Given the description of an element on the screen output the (x, y) to click on. 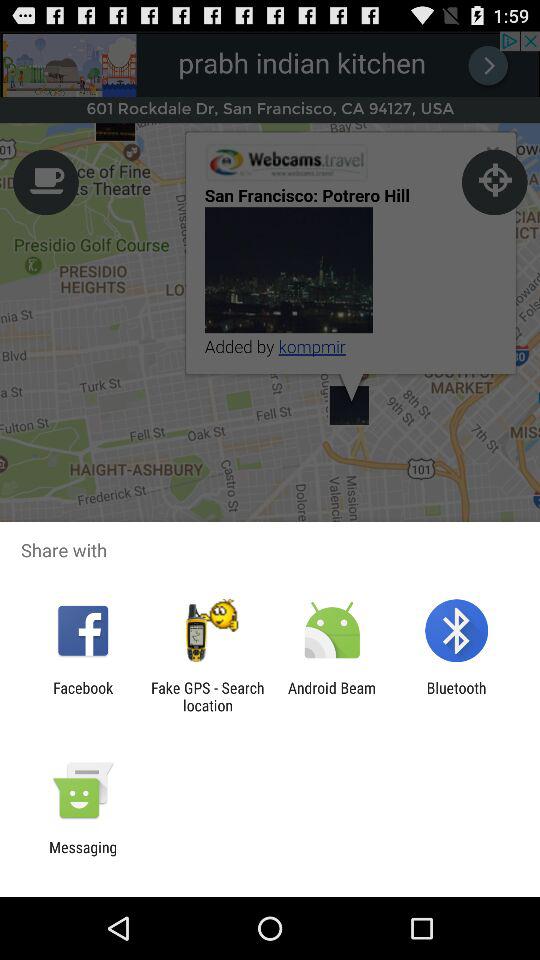
scroll to fake gps search icon (207, 696)
